Given the description of an element on the screen output the (x, y) to click on. 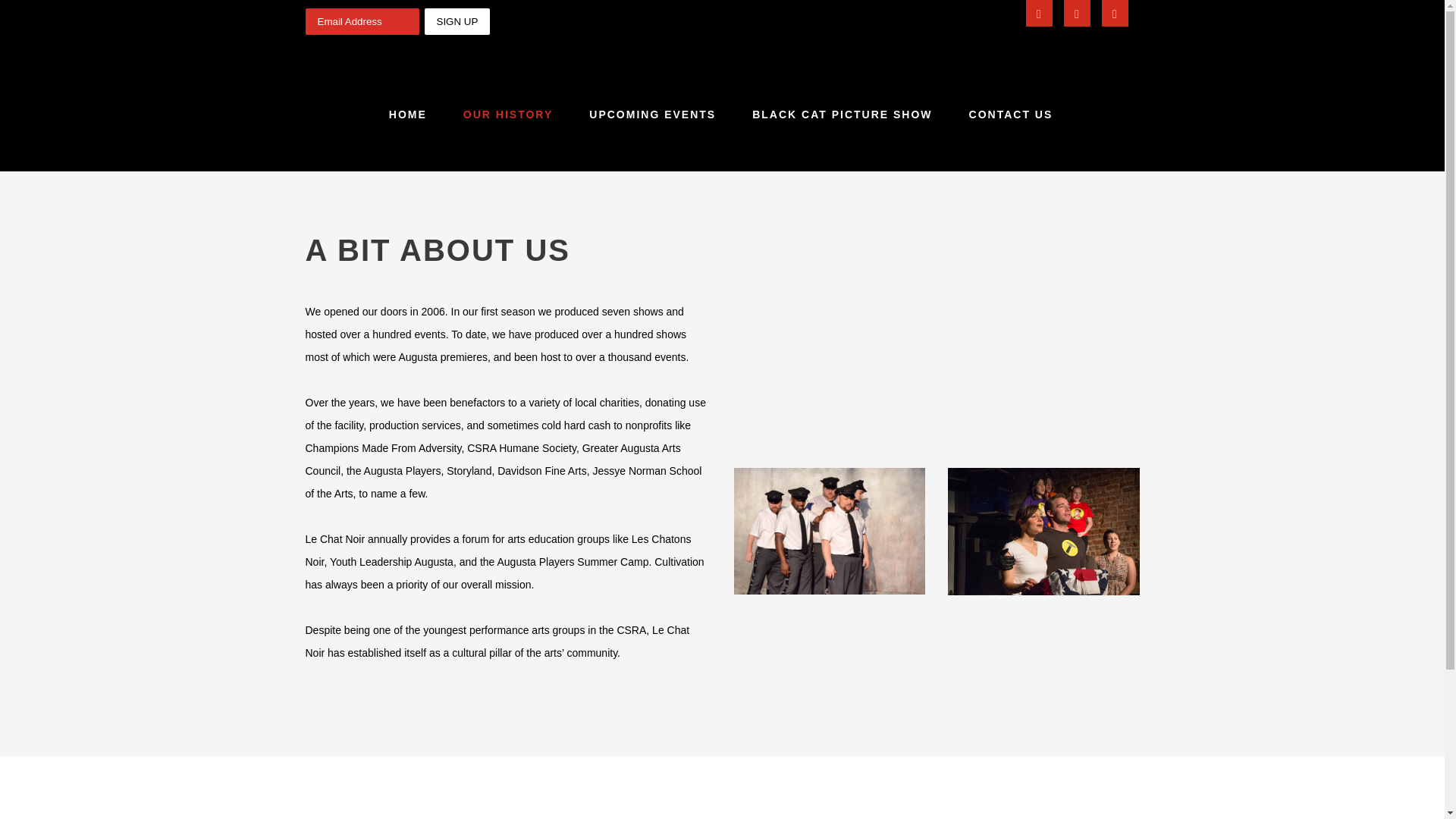
SIGN UP (457, 21)
OUR HISTORY (507, 114)
UPCOMING EVENTS (651, 114)
BLACK CAT PICTURE SHOW (841, 114)
CONTACT US (1010, 114)
SIGN UP (457, 21)
